Given the description of an element on the screen output the (x, y) to click on. 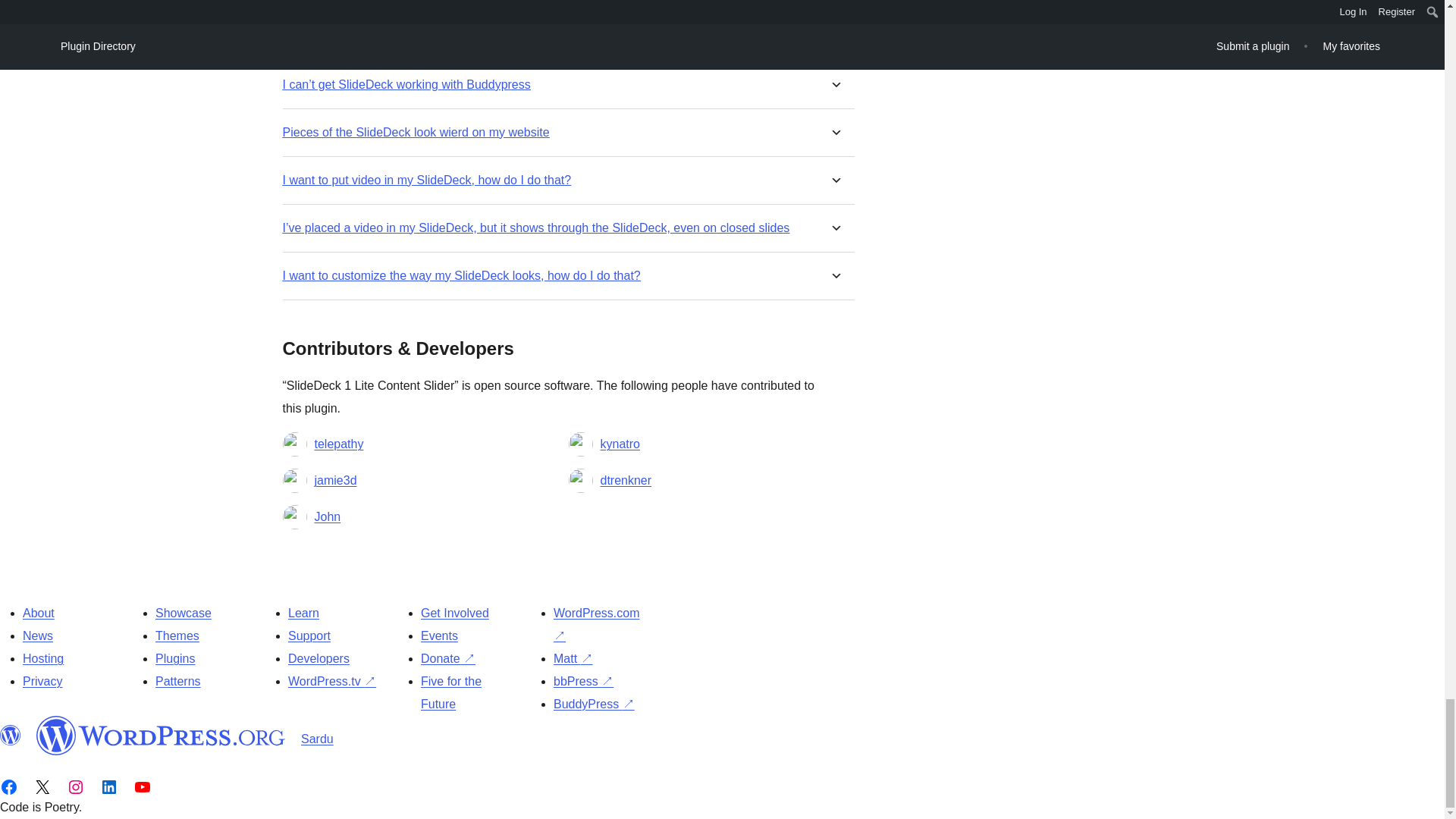
WordPress.org (160, 735)
WordPress.org (10, 735)
